Given the description of an element on the screen output the (x, y) to click on. 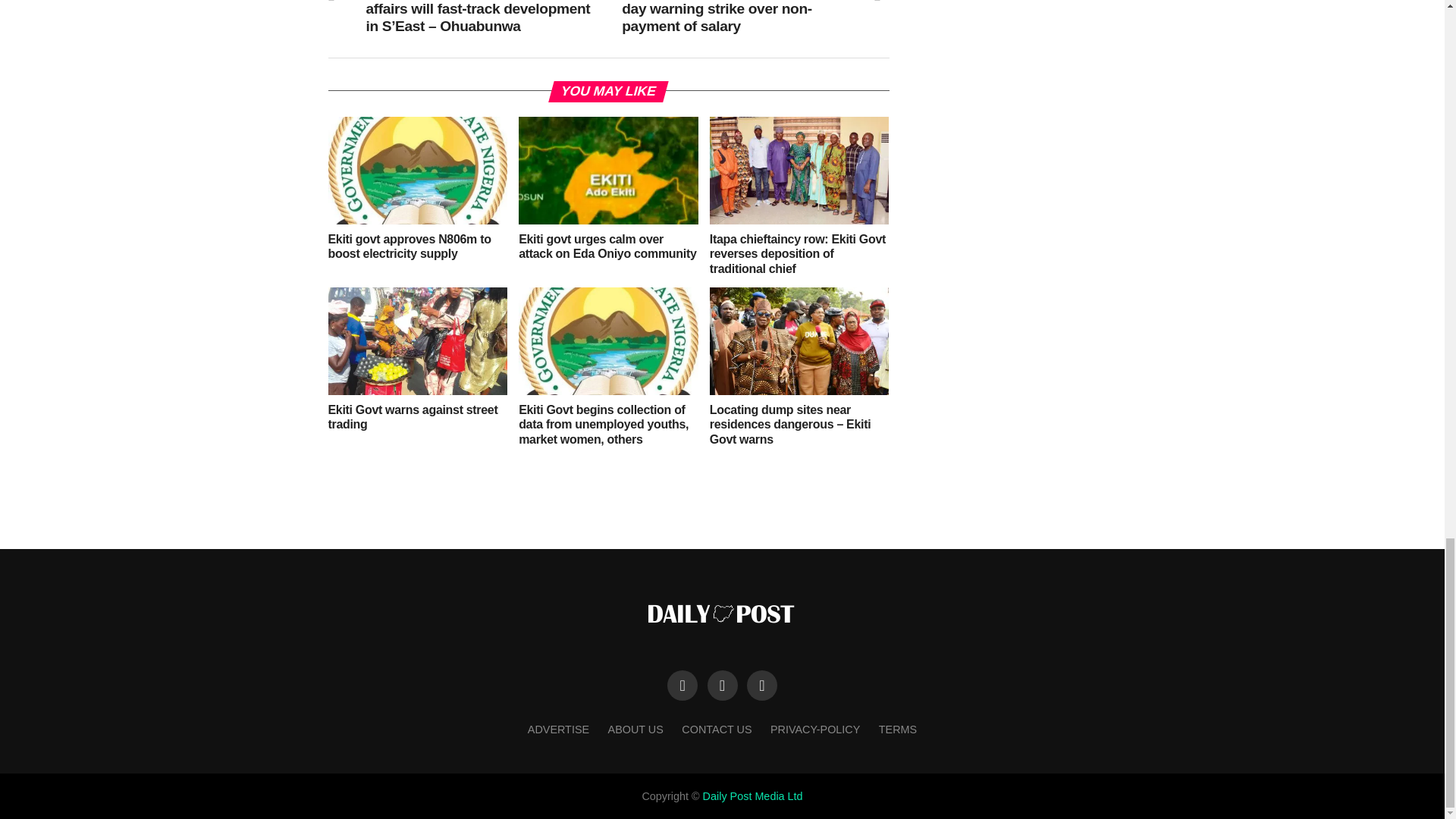
ADVERTISE (558, 729)
ABOUT US (635, 729)
CONTACT US (716, 729)
